Given the description of an element on the screen output the (x, y) to click on. 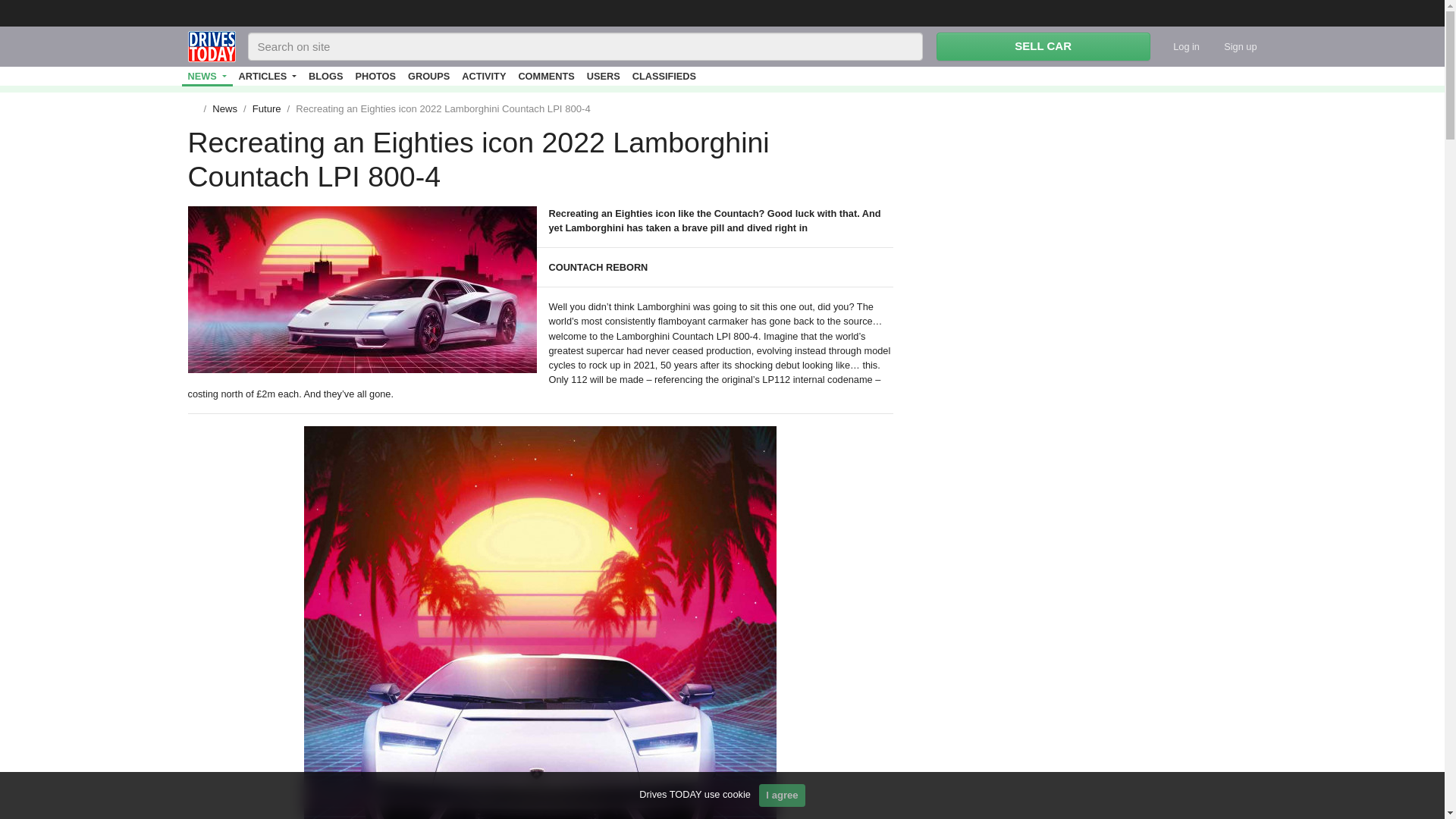
Log in (1179, 46)
SELL CAR (1043, 46)
Sign up (1228, 46)
ARTICLES (267, 76)
News (207, 76)
Sign up (1228, 46)
Log in (1179, 46)
NEWS (207, 76)
